Given the description of an element on the screen output the (x, y) to click on. 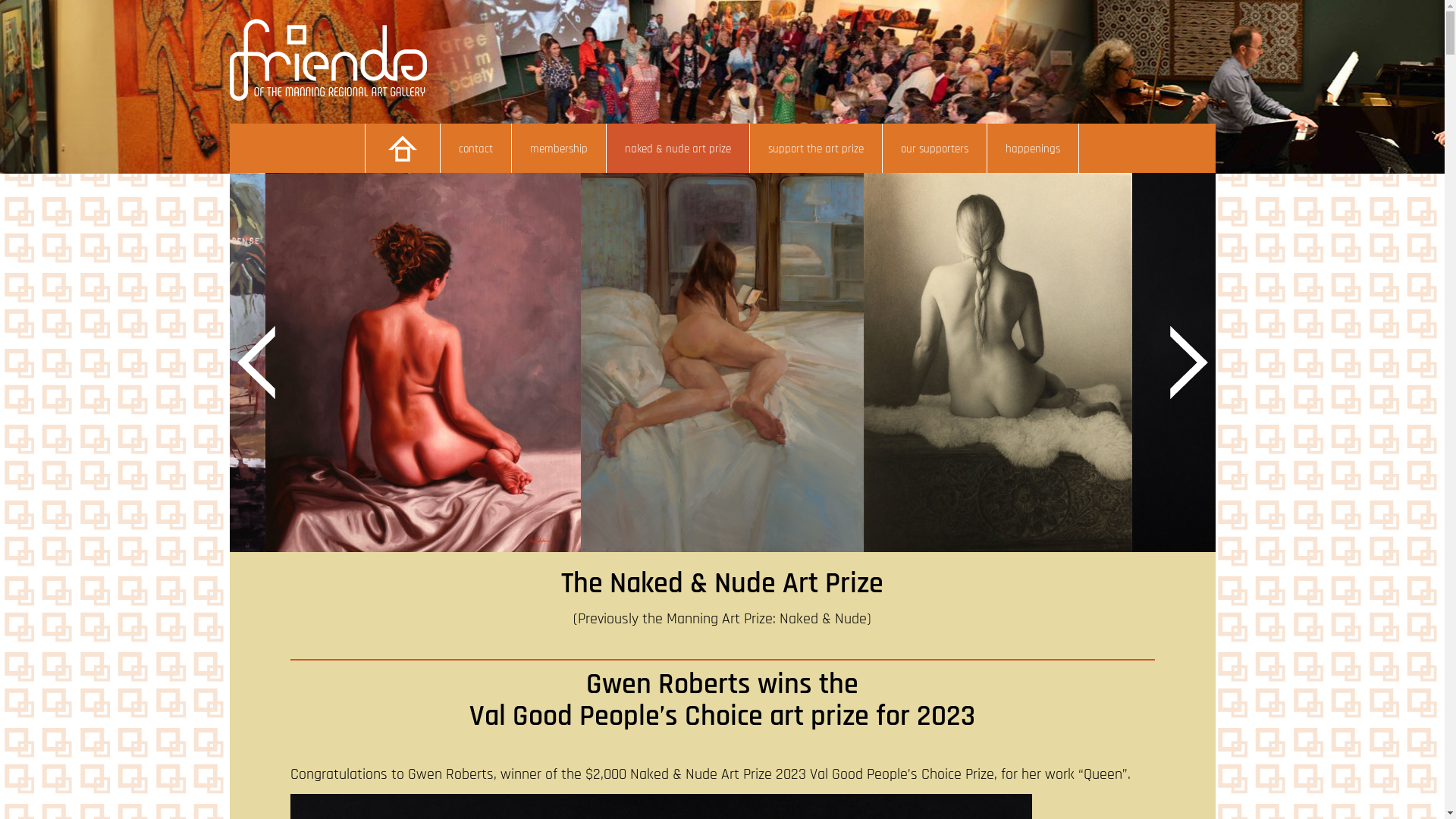
support the art prize Element type: text (815, 148)
Previous Element type: text (258, 368)
Next Element type: text (1188, 368)
membership Element type: text (558, 148)
contact Element type: text (475, 148)
naked & nude art prize Element type: text (677, 148)
Friends of the Gallery Element type: hover (327, 97)
happenings Element type: text (1033, 148)
our supporters Element type: text (934, 148)
